Given the description of an element on the screen output the (x, y) to click on. 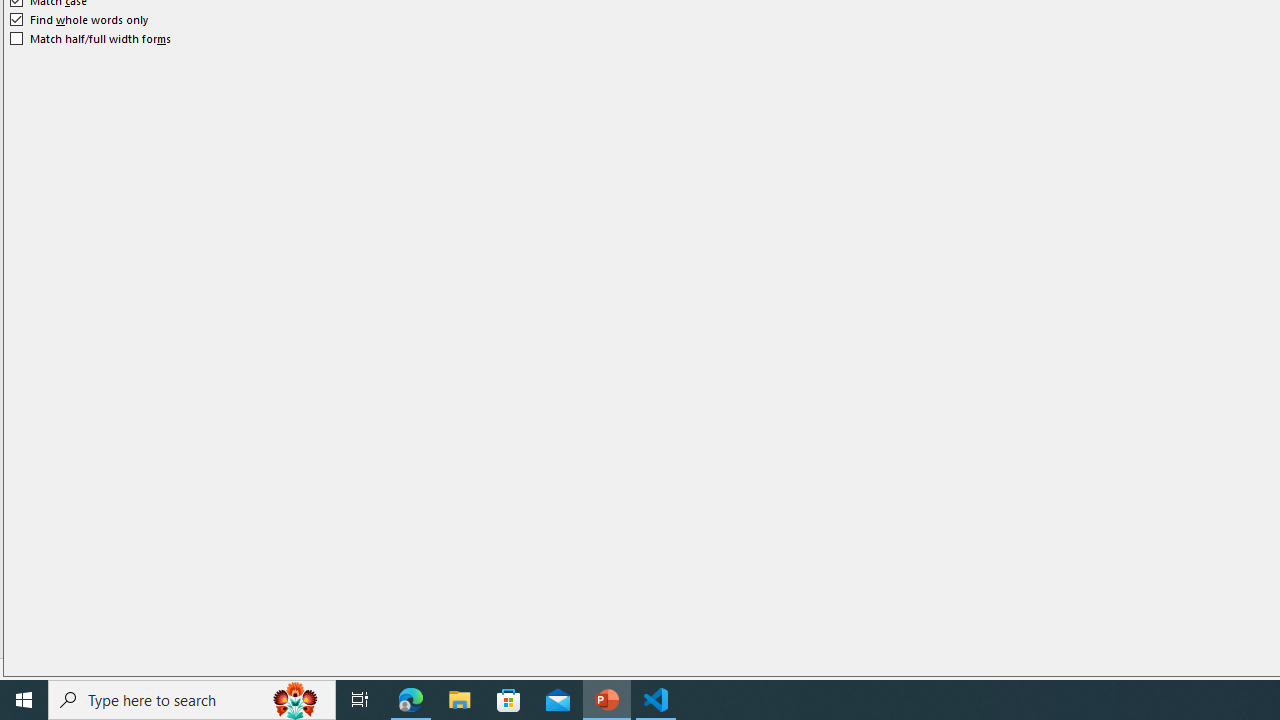
Match half/full width forms (91, 38)
Find whole words only (79, 20)
